Given the description of an element on the screen output the (x, y) to click on. 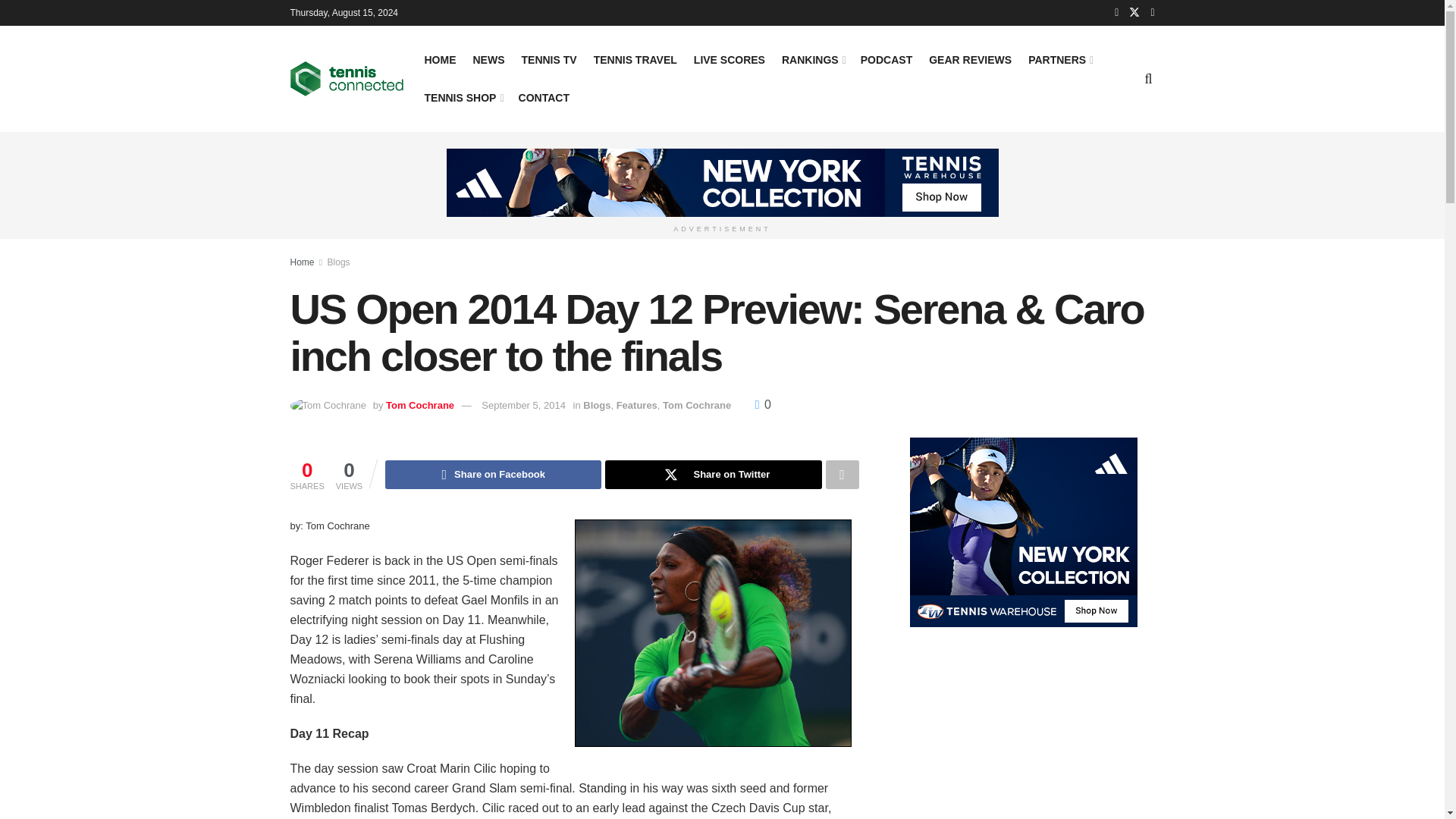
NEWS (489, 59)
RANKINGS (812, 59)
PODCAST (886, 59)
HOME (441, 59)
TENNIS TRAVEL (635, 59)
TENNIS SHOP (463, 97)
LIVE SCORES (729, 59)
CONTACT (543, 97)
GEAR REVIEWS (969, 59)
TENNIS TV (548, 59)
